Given the description of an element on the screen output the (x, y) to click on. 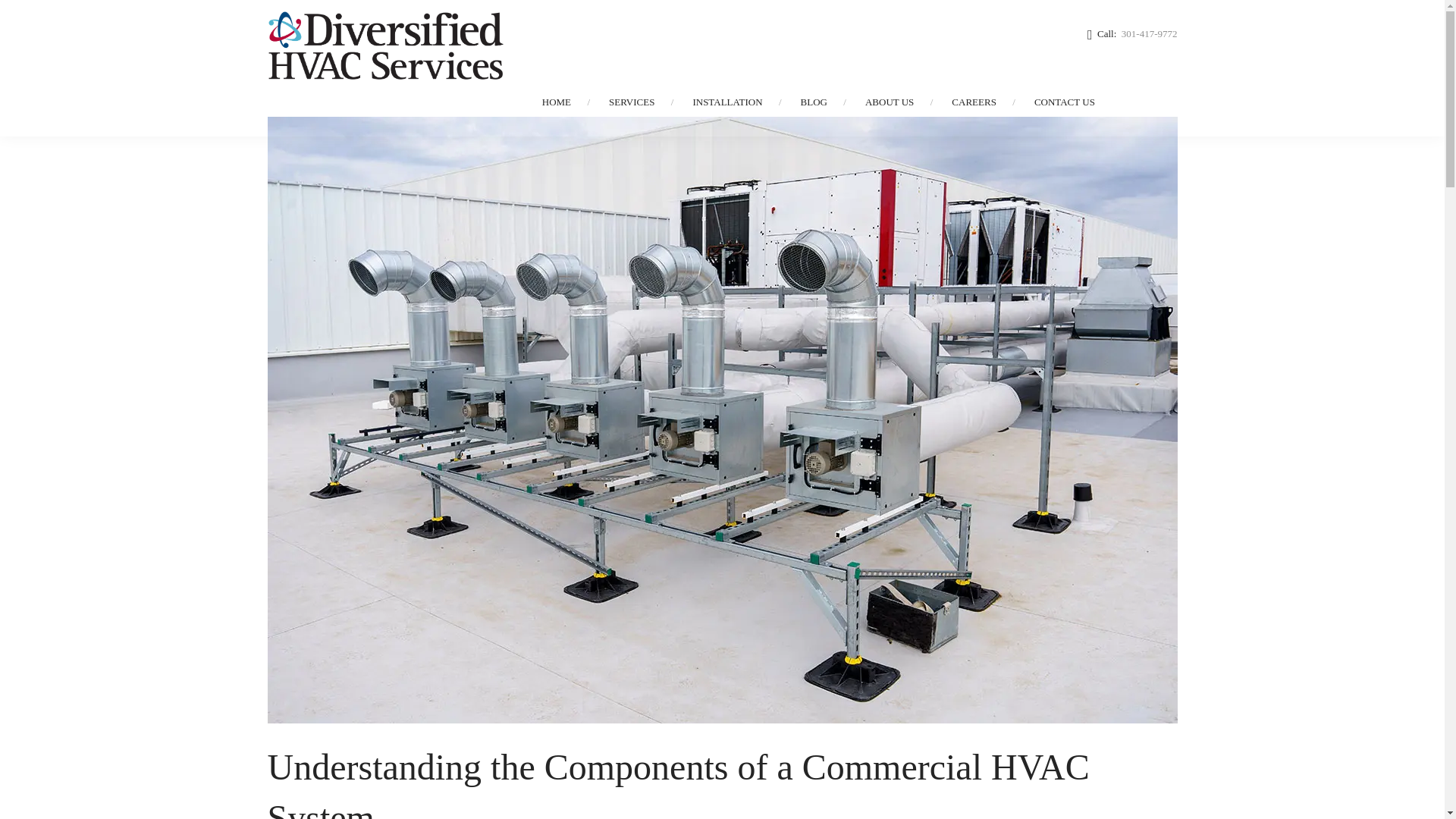
Call: 301-417-9772 (1132, 34)
INSTALLATION (727, 101)
